Given the description of an element on the screen output the (x, y) to click on. 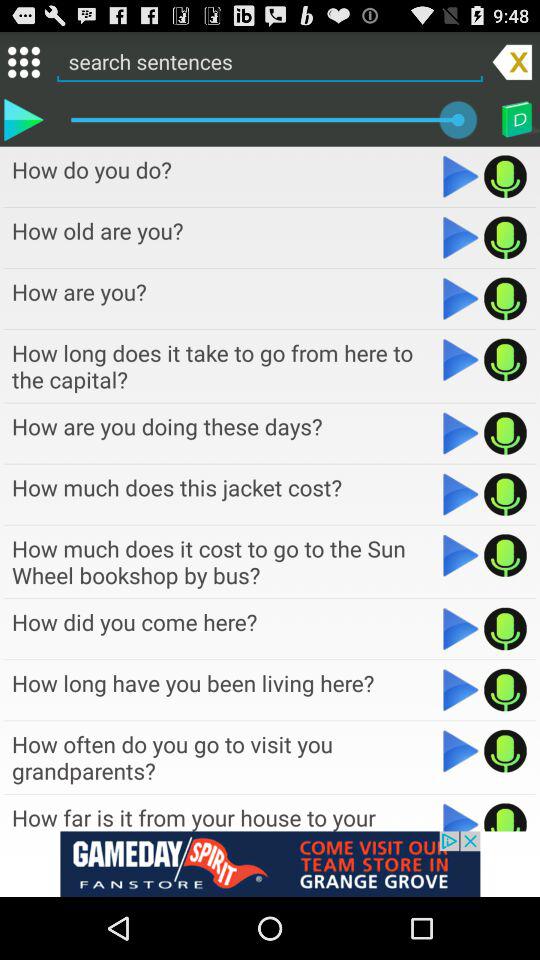
go to play option (460, 751)
